Given the description of an element on the screen output the (x, y) to click on. 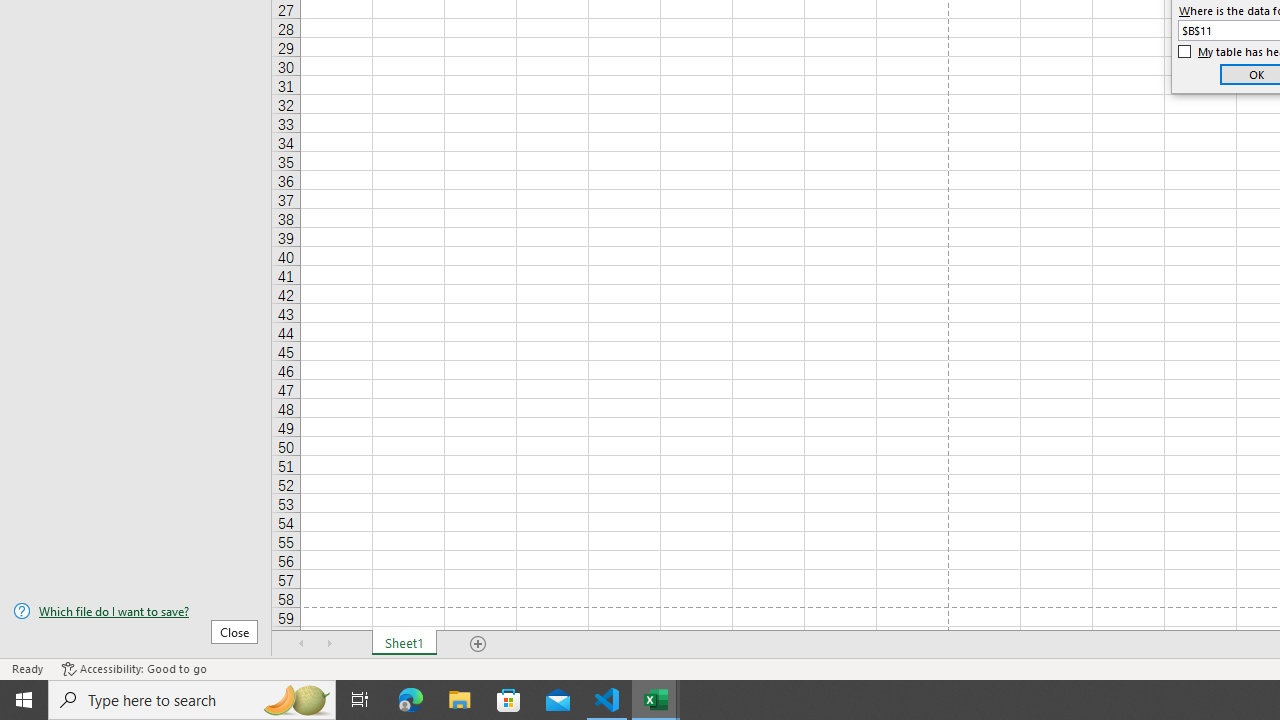
Which file do I want to save? (136, 611)
